Given the description of an element on the screen output the (x, y) to click on. 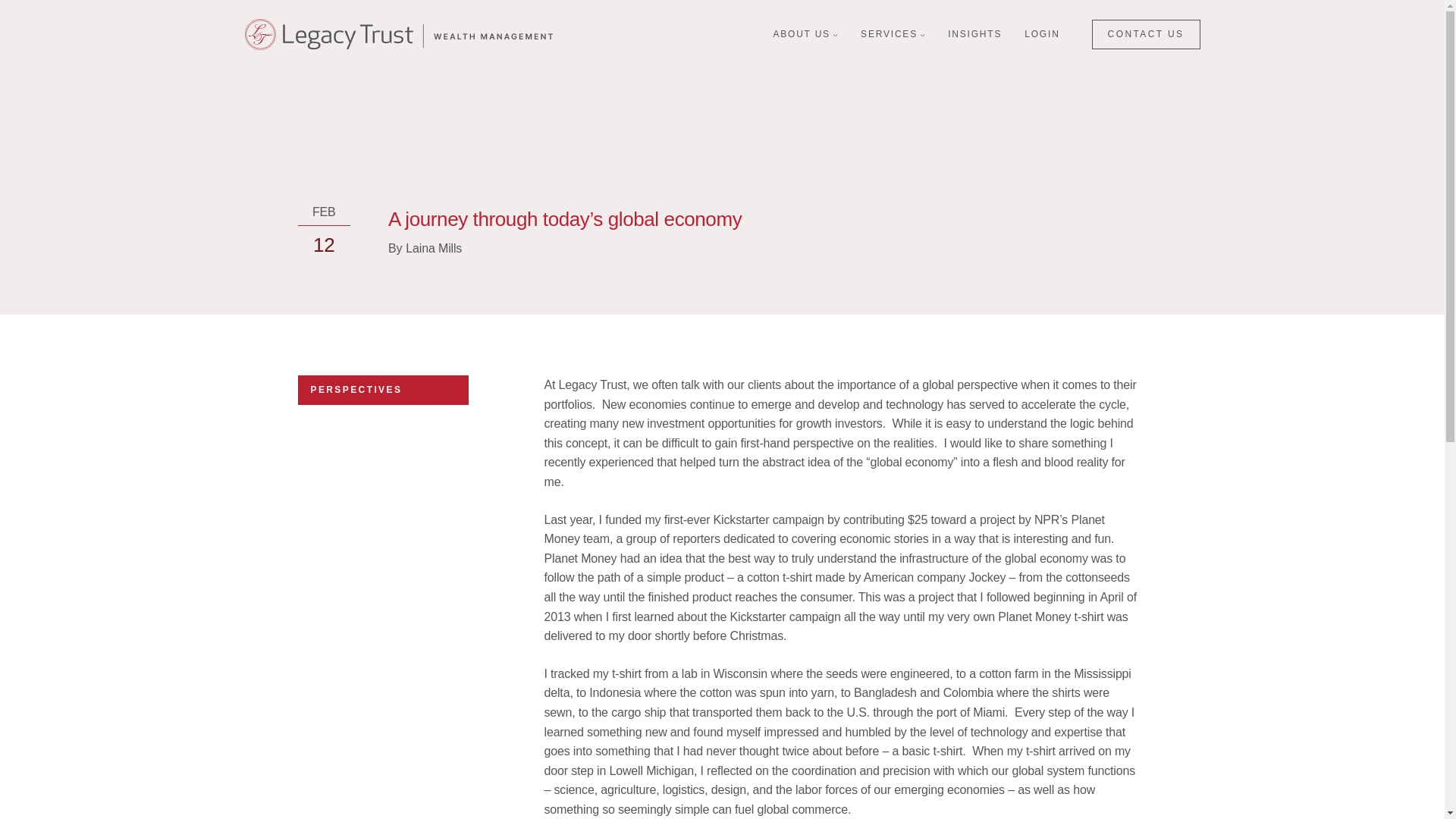
INSIGHTS (974, 34)
PERSPECTIVES (357, 389)
CONTACT US (1145, 34)
SERVICES (888, 34)
LOGIN (1042, 34)
ABOUT US (801, 34)
